Given the description of an element on the screen output the (x, y) to click on. 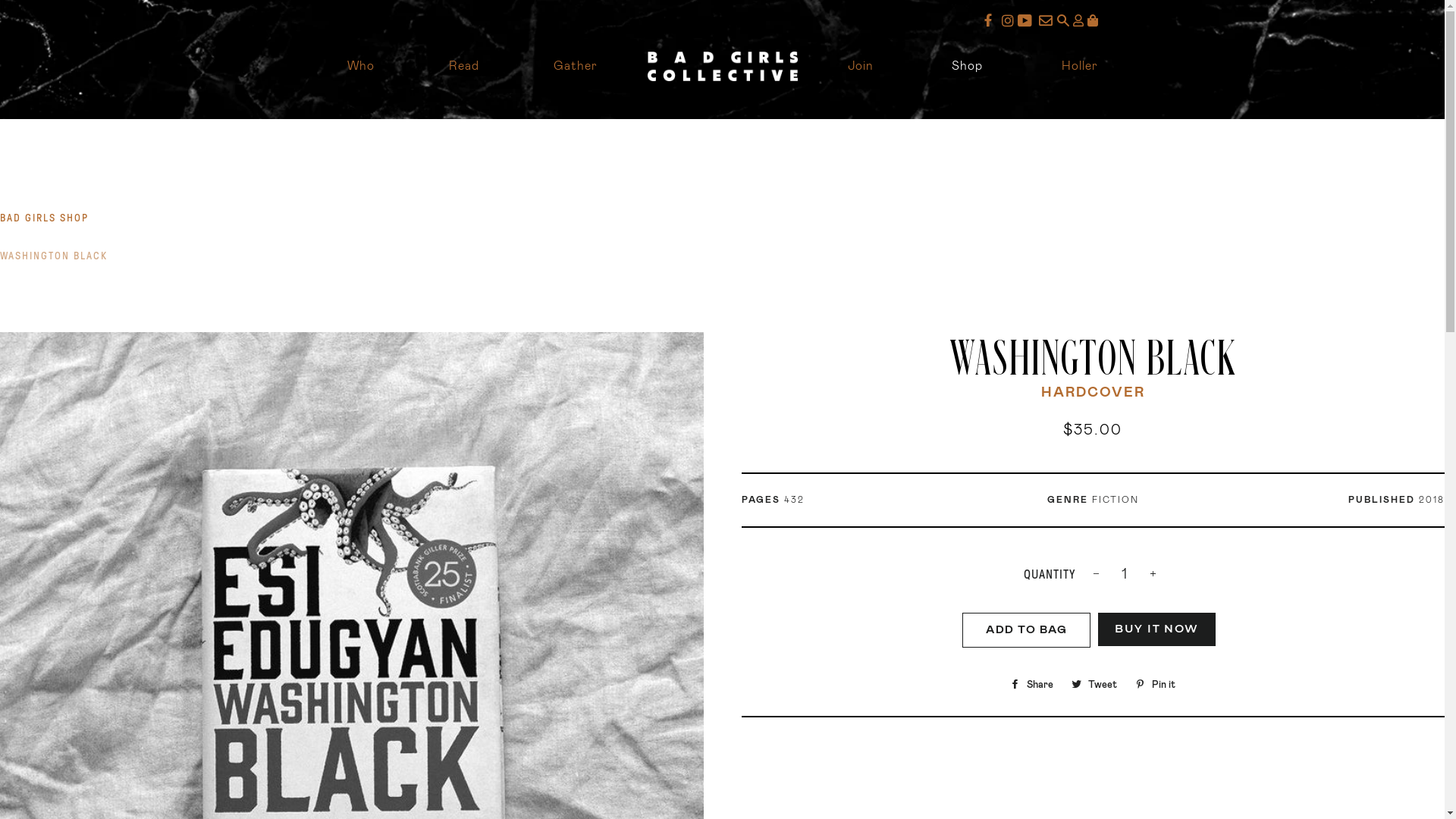
+ Element type: text (1153, 574)
BUY IT NOW Element type: text (1156, 629)
Bad Girls Collective on Instagram Element type: hover (1007, 21)
Join Element type: text (860, 65)
BAD GIRLS SHOP Element type: text (44, 217)
Read Element type: text (463, 65)
Share
Share on Facebook Element type: text (1031, 685)
Shop Element type: text (966, 65)
Log In Element type: text (1077, 21)
ADD TO BAG Element type: text (1026, 630)
Search Element type: text (1045, 21)
Gather Element type: text (575, 65)
Bag Element type: text (1092, 21)
Pin it
Pin on Pinterest Element type: text (1155, 685)
Who Element type: text (360, 65)
Search Element type: text (1063, 21)
Tweet
Tweet on Twitter Element type: text (1093, 685)
Bad Girls Collective on Facebook Element type: hover (989, 21)
Holler Element type: text (1079, 65)
Bad Girls Collective on YouTube Element type: hover (1026, 21)
